Given the description of an element on the screen output the (x, y) to click on. 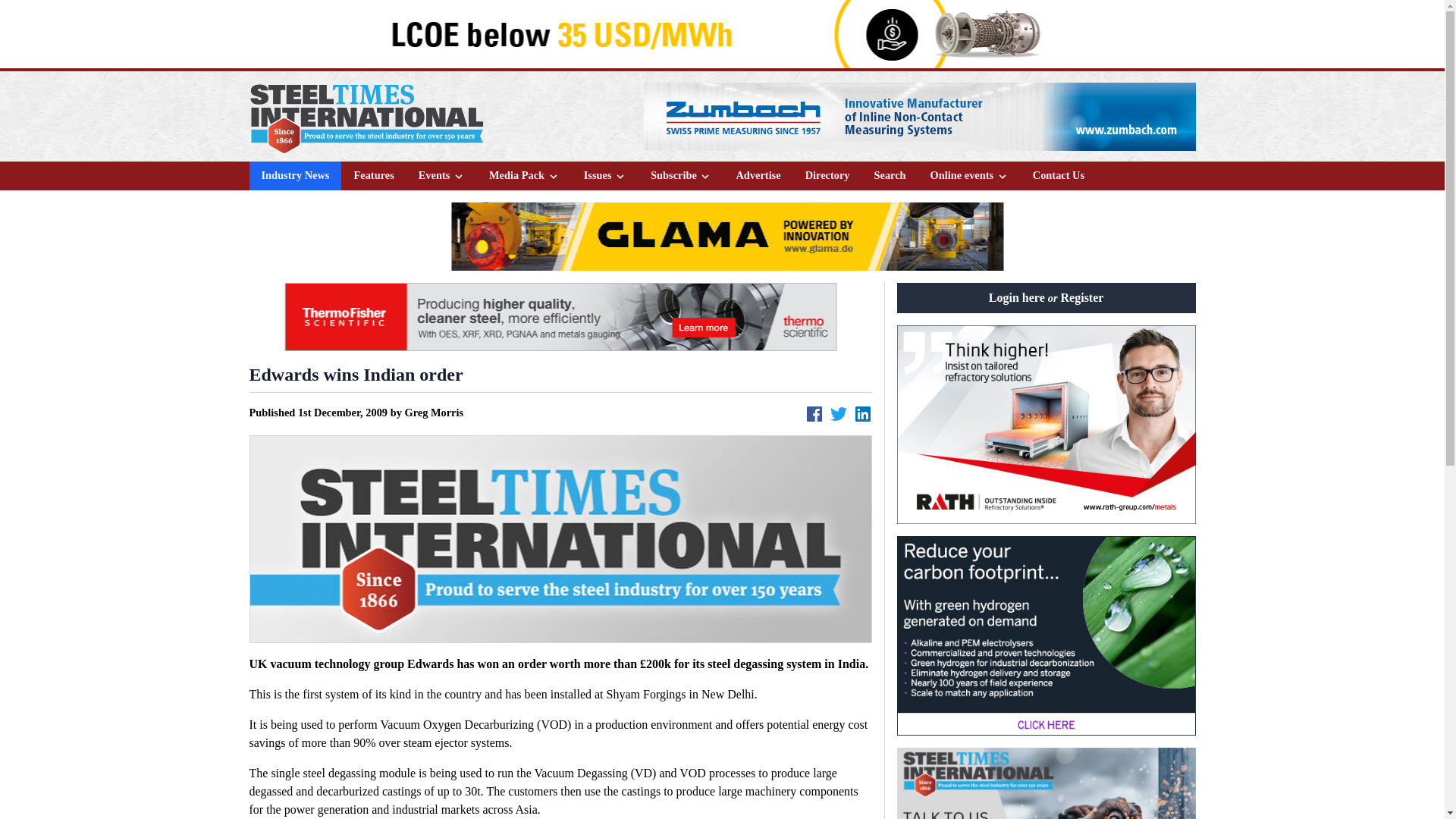
Media Pack (524, 175)
Subscribe (681, 175)
Share on Twitter (838, 413)
Subscribe (680, 175)
Issues (604, 175)
Online events (969, 175)
NEL Hydrogen (1045, 635)
Media Pack (524, 175)
STI sponsorship (1045, 783)
Contact Us (1058, 175)
Solar Turbines (719, 33)
Search (889, 175)
Online events (969, 175)
Thermo (560, 316)
Advertise (757, 175)
